Given the description of an element on the screen output the (x, y) to click on. 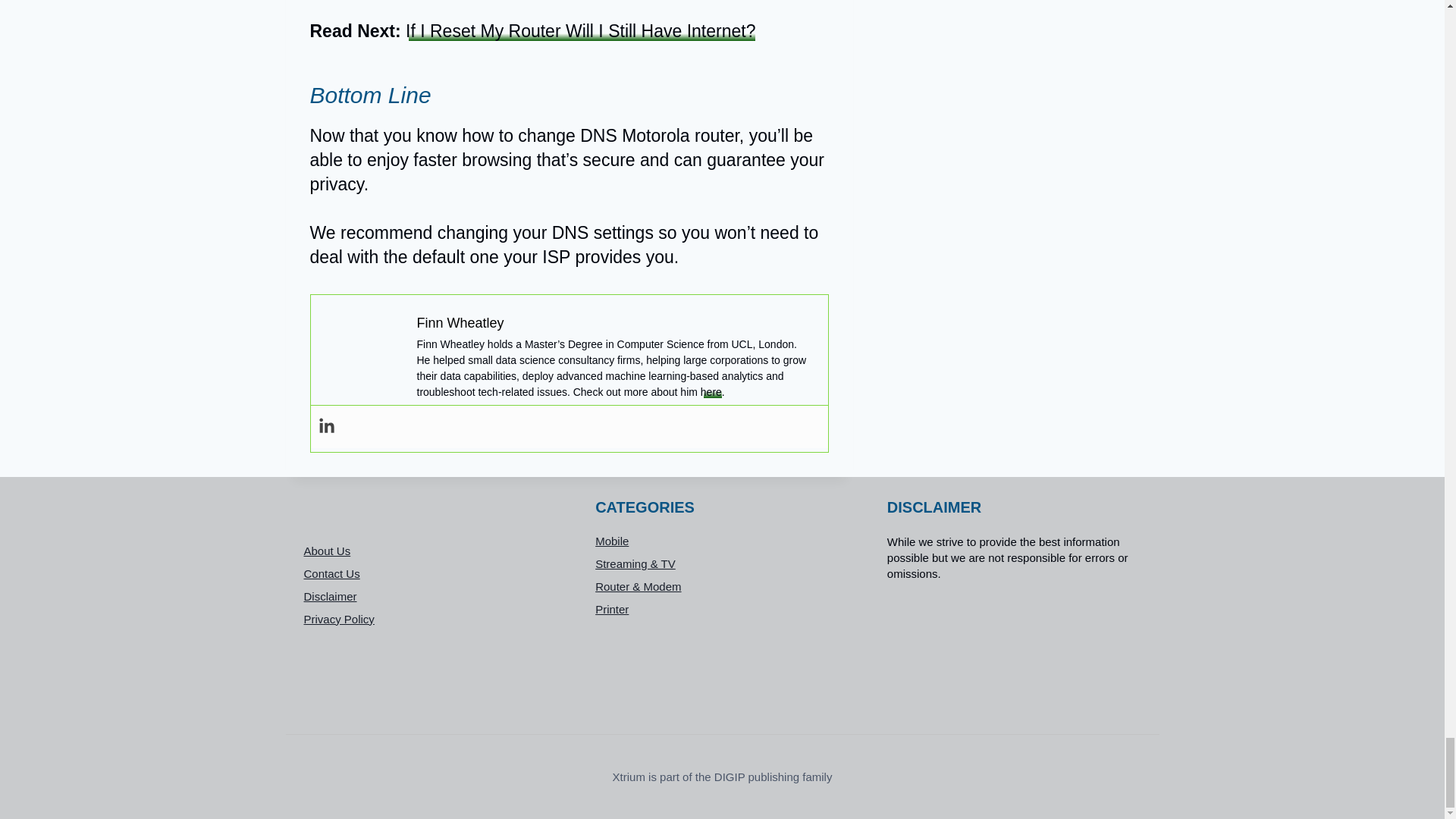
here (711, 391)
Privacy Policy (429, 618)
If I Reset My Router Will I Still Have Internet? (580, 30)
Mobile (721, 540)
Disclaimer (429, 595)
Contact Us (429, 572)
Change DNS Motorola Router - A Complete Guide! 8 (363, 351)
Finn Wheatley (459, 322)
DMCA.com Protection Status (1013, 649)
About Us (429, 549)
